Given the description of an element on the screen output the (x, y) to click on. 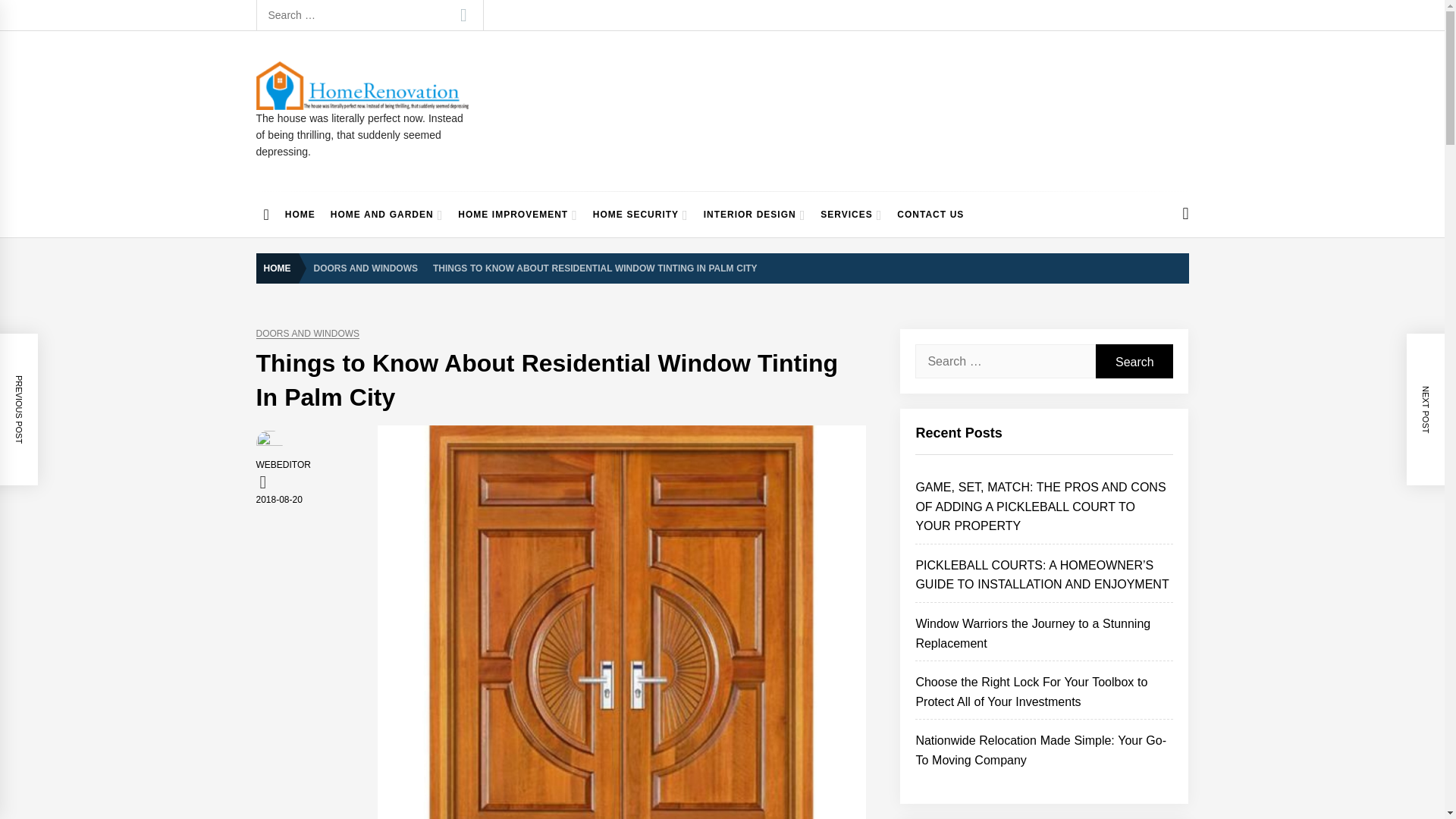
Search (1134, 360)
Search (462, 15)
HOME (280, 268)
Search (462, 15)
INTERIOR DESIGN (754, 214)
Home Renovation (366, 124)
Search (462, 15)
HOME IMPROVEMENT (517, 214)
HOME AND GARDEN (386, 214)
HOME SECURITY (640, 214)
Search (1134, 360)
CONTACT US (930, 214)
HOME (300, 214)
SERVICES (850, 214)
